Given the description of an element on the screen output the (x, y) to click on. 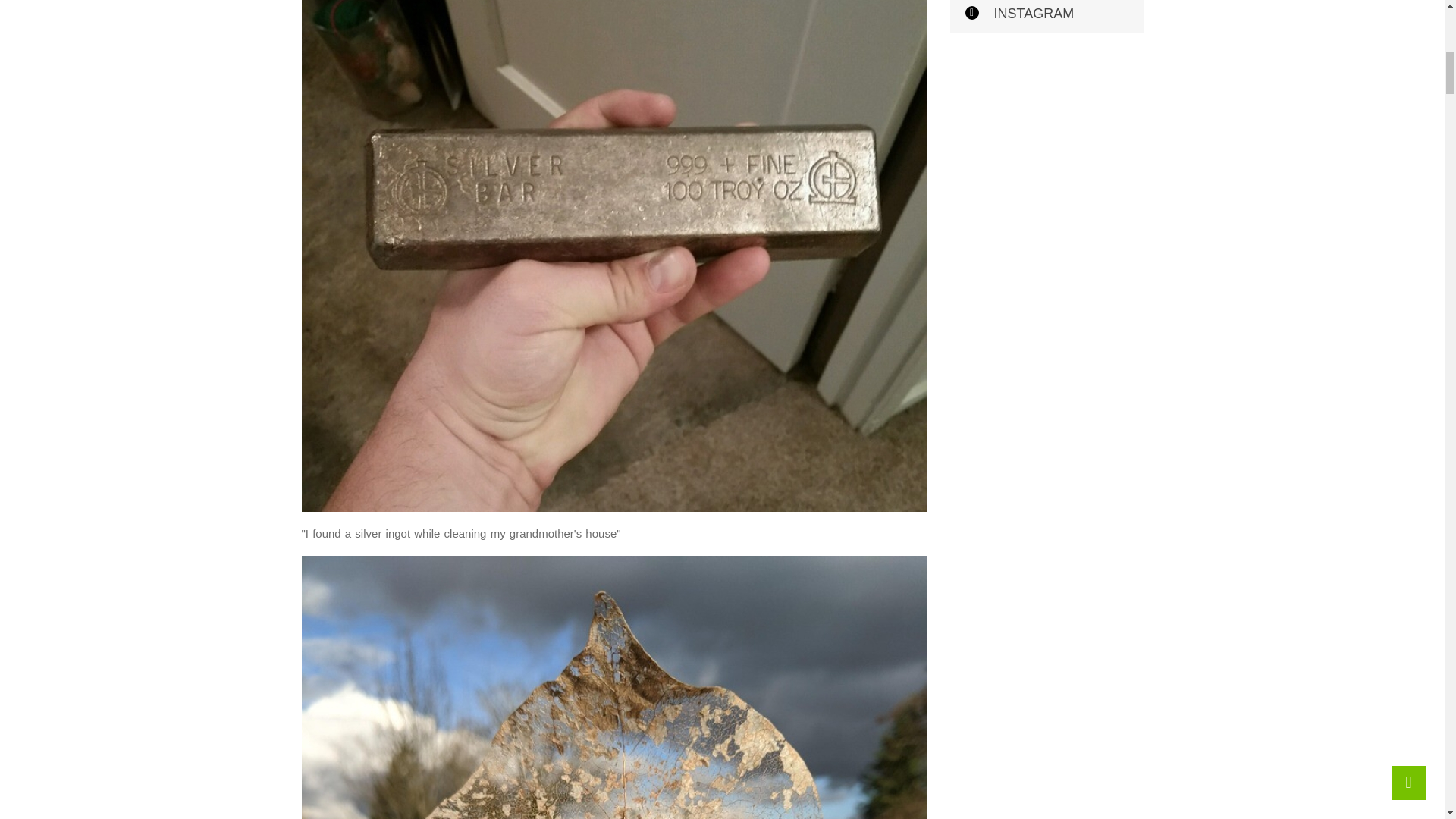
INSTAGRAM (1045, 16)
